Given the description of an element on the screen output the (x, y) to click on. 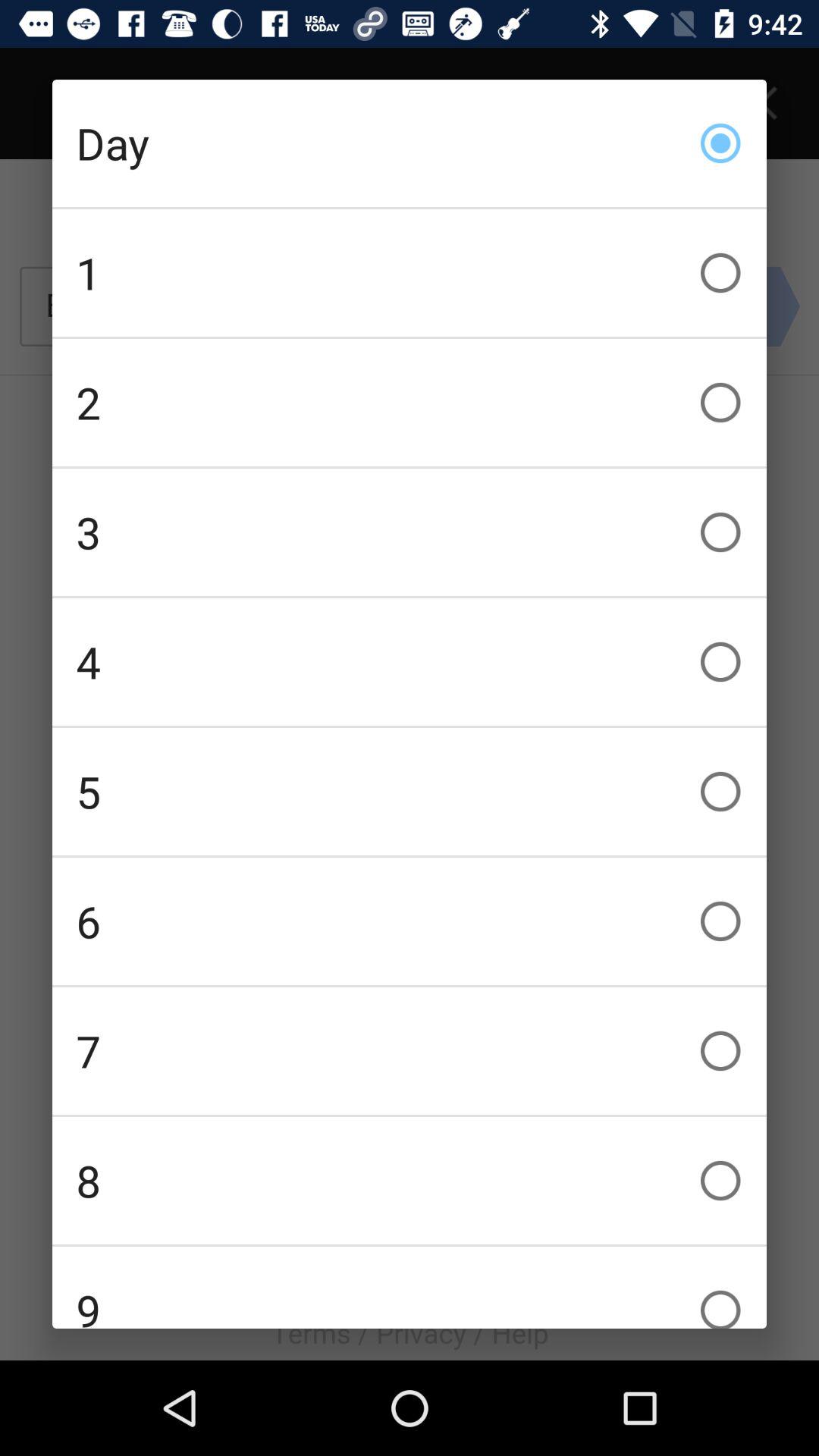
turn off the item below day item (409, 272)
